Given the description of an element on the screen output the (x, y) to click on. 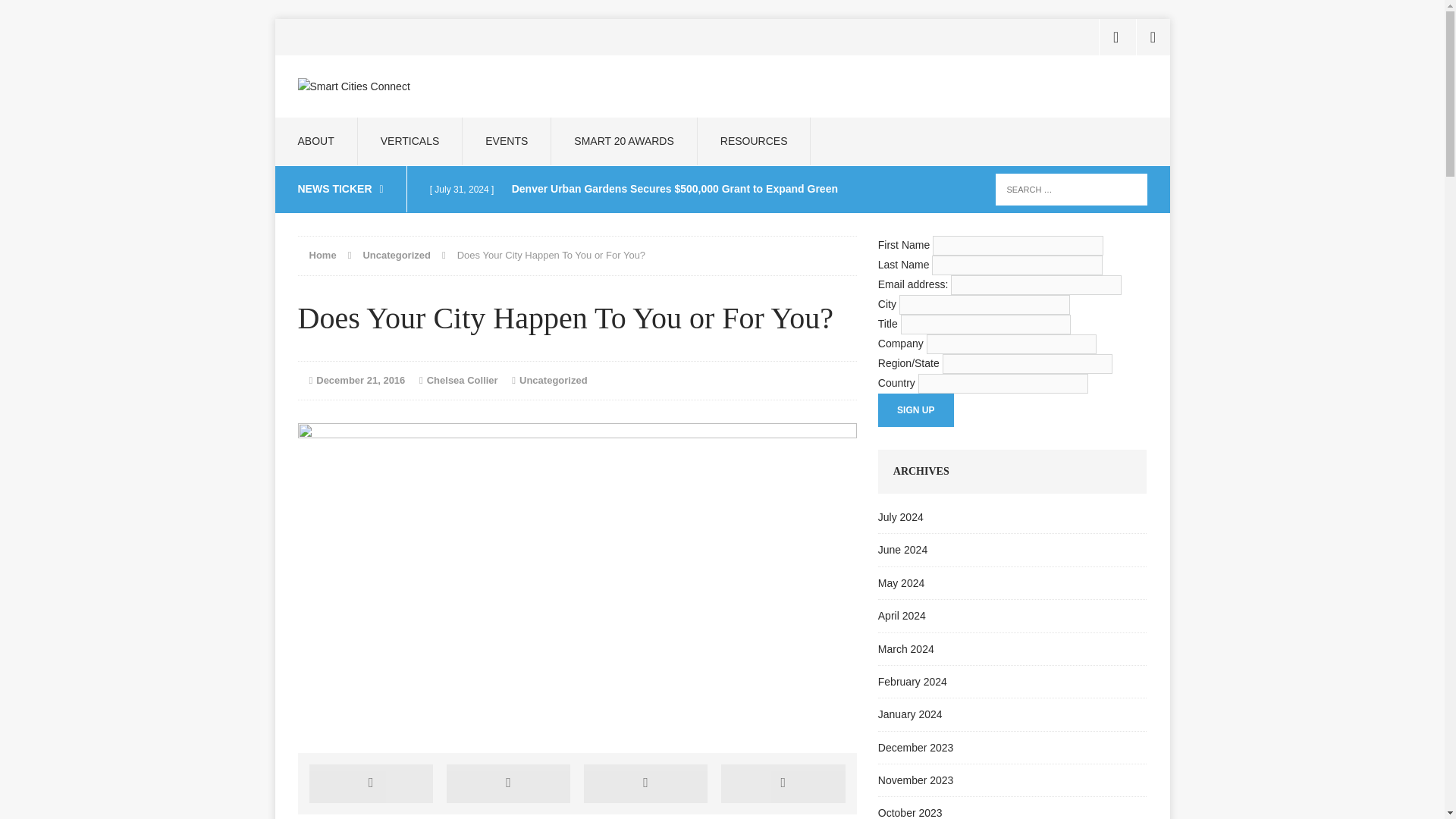
December 21, 2016 (359, 379)
Pin This Post (645, 783)
Uncategorized (396, 255)
Uncategorized (553, 379)
RESOURCES (753, 140)
ABOUT (315, 140)
Home (322, 255)
Share on Facebook (370, 783)
SMART 20 AWARDS (623, 140)
VERTICALS (410, 140)
Tweet This Post (508, 783)
Smart Cities Connect (416, 86)
Search (37, 15)
Chelsea Collier (461, 379)
EVENTS (506, 140)
